Given the description of an element on the screen output the (x, y) to click on. 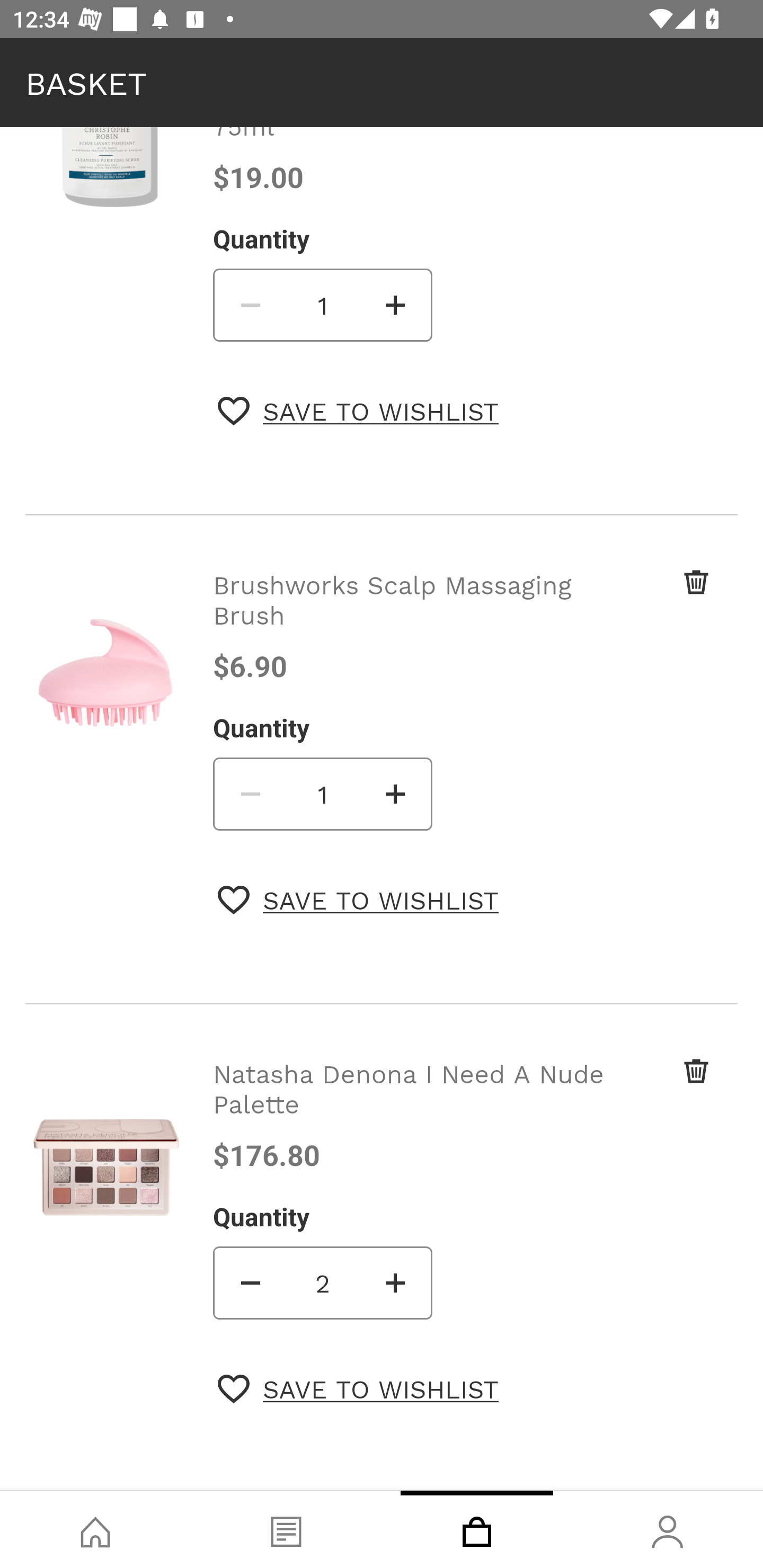
Decrease quantity (249, 304)
Increase quantity (395, 304)
Save to Wishlist SAVE TO WISHLIST (357, 410)
Brushworks Scalp Massaging Brush $6.90 (412, 625)
Remove this item (661, 599)
Decrease quantity (249, 794)
Increase quantity (395, 794)
Save to Wishlist SAVE TO WISHLIST (357, 899)
Natasha Denona I Need A Nude Palette $176.80 (412, 1114)
Remove this item (661, 1088)
Decrease quantity (249, 1283)
Increase quantity (395, 1283)
Save to Wishlist SAVE TO WISHLIST (357, 1388)
Shop, tab, 1 of 4 (95, 1529)
Blog, tab, 2 of 4 (285, 1529)
Basket, tab, 3 of 4 (476, 1529)
Account, tab, 4 of 4 (667, 1529)
